Given the description of an element on the screen output the (x, y) to click on. 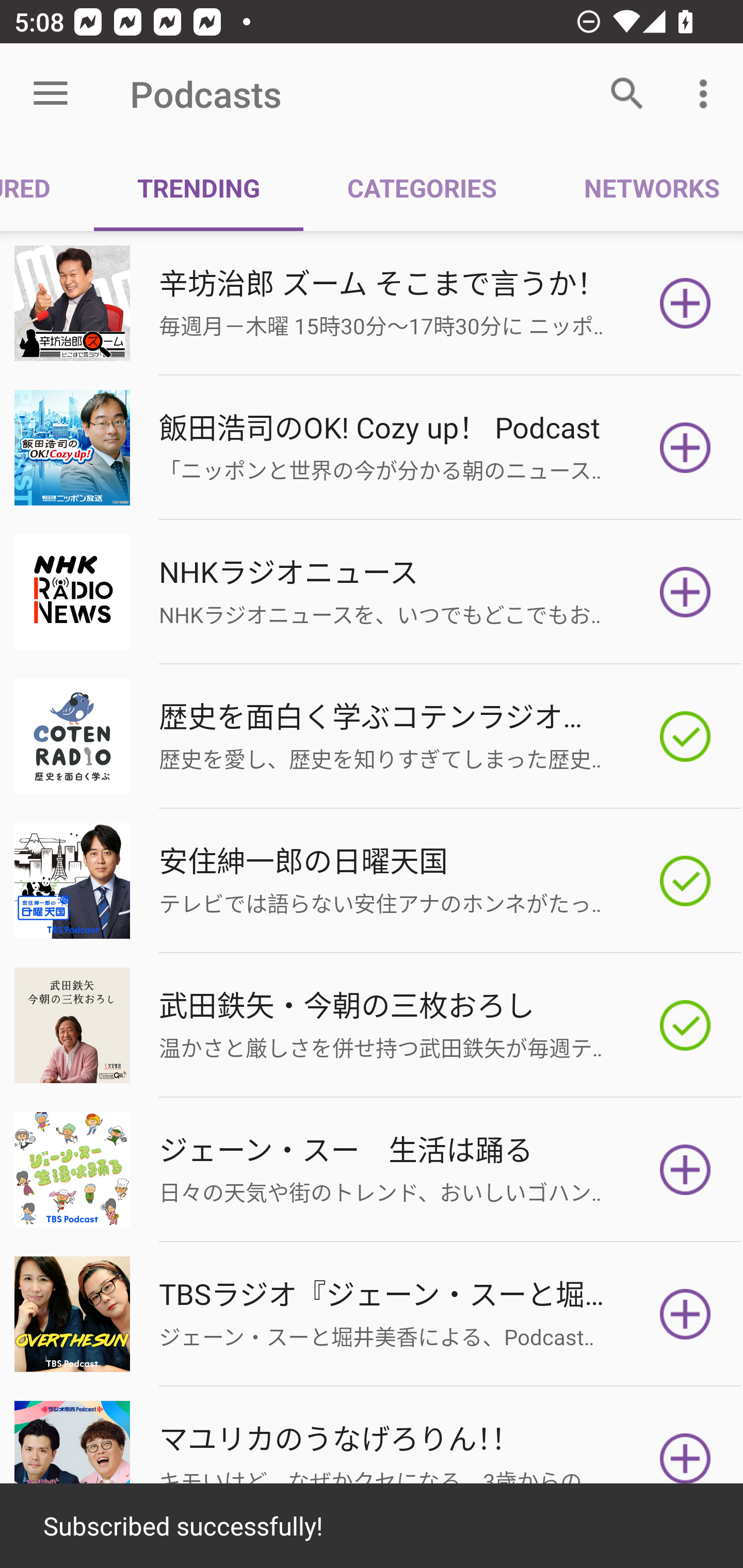
Open menu (50, 93)
Search (626, 93)
More options (706, 93)
TRENDING (198, 187)
CATEGORIES (421, 187)
NETWORKS (641, 187)
Subscribe (685, 303)
Subscribe (685, 447)
Subscribe (685, 591)
Subscribed (685, 736)
Subscribed (685, 881)
Subscribed (685, 1025)
Subscribe (685, 1169)
Subscribe (685, 1313)
Subscribe (685, 1458)
Subscribed successfully! (371, 1525)
